Given the description of an element on the screen output the (x, y) to click on. 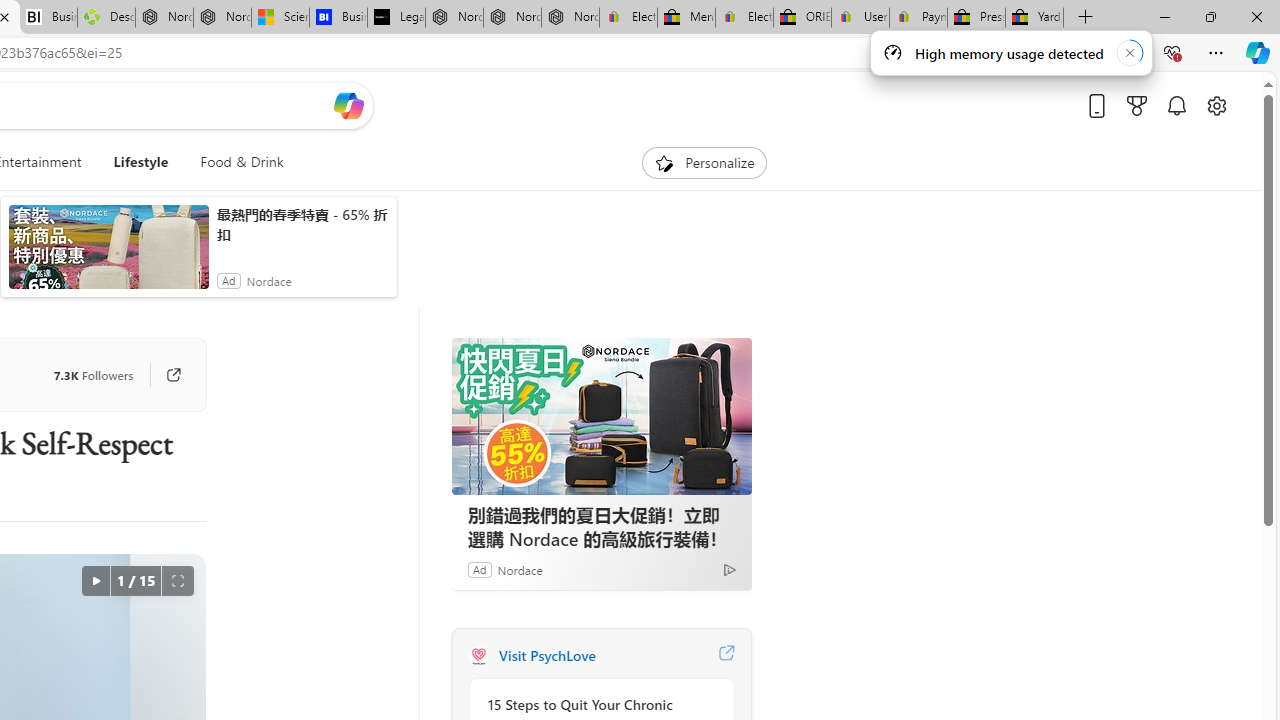
anim-content (107, 255)
Lifestyle (140, 162)
Food & Drink (234, 162)
Payments Terms of Use | eBay.com (918, 17)
Lifestyle (141, 162)
Full screen (177, 580)
